Given the description of an element on the screen output the (x, y) to click on. 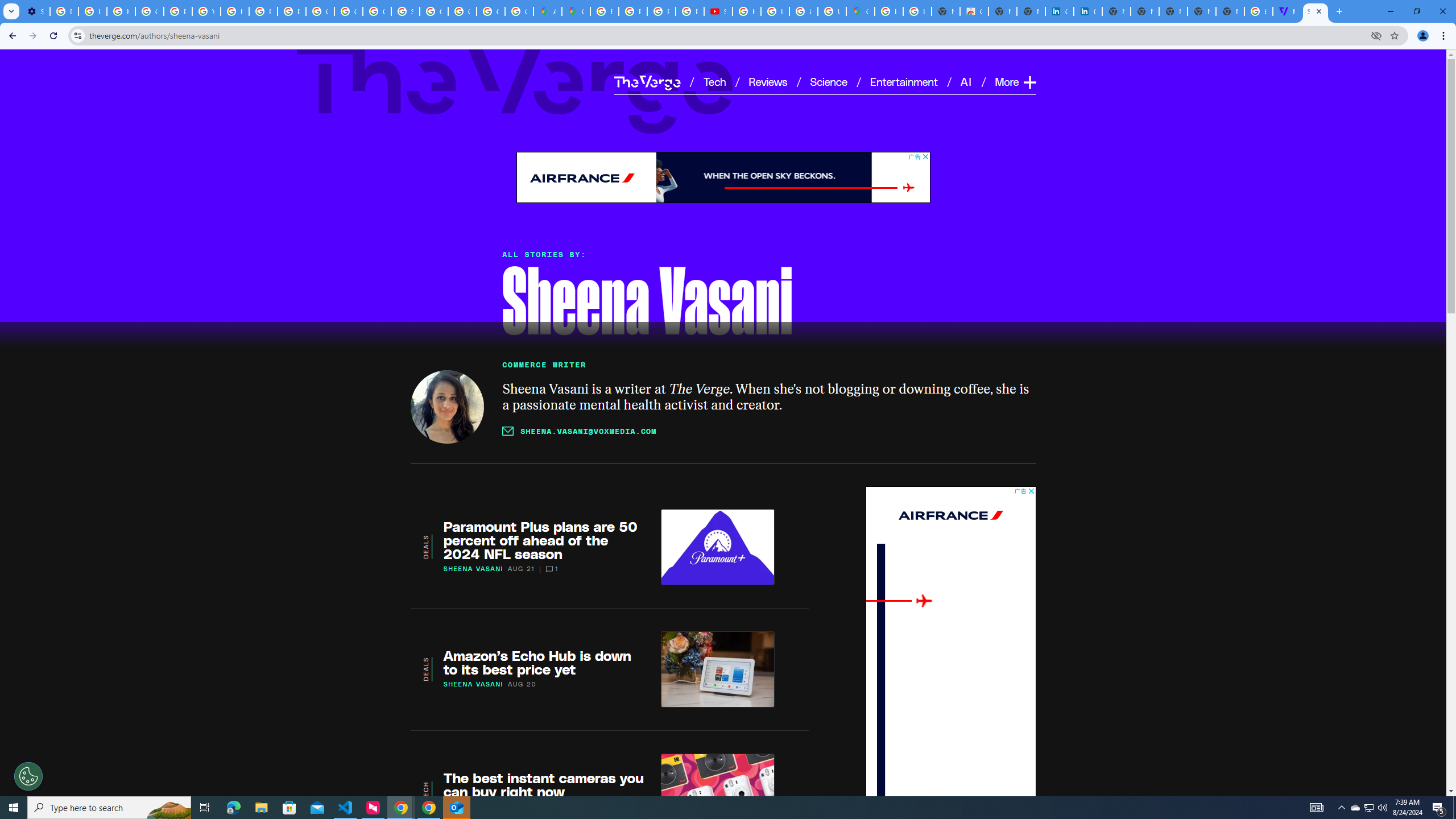
Privacy Help Center - Policies Help (263, 11)
Subscriptions - YouTube (718, 11)
Open Preferences (28, 776)
Chrome Web Store (973, 11)
TECH (424, 791)
